Given the description of an element on the screen output the (x, y) to click on. 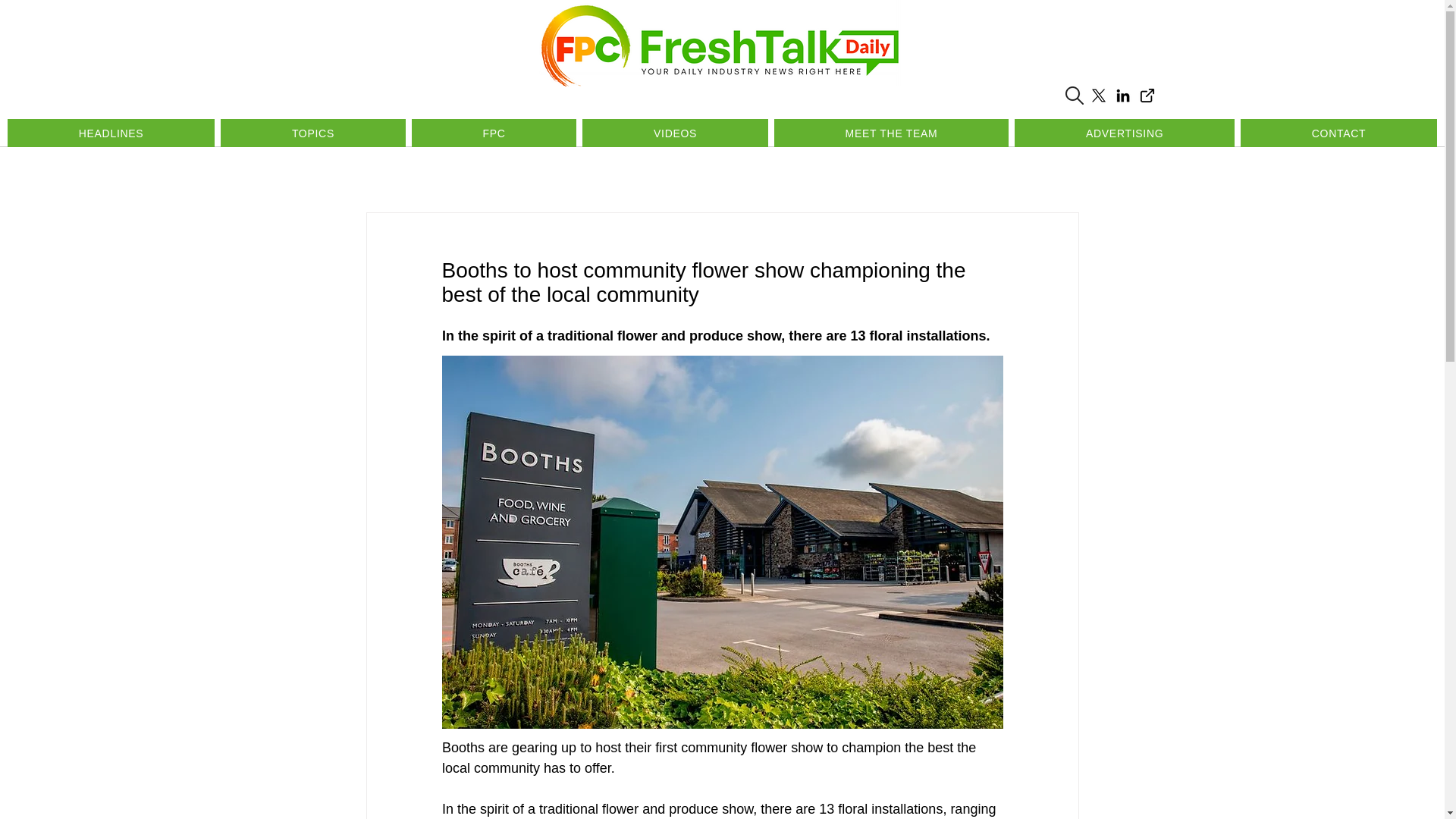
FPC (494, 132)
VIDEOS (675, 132)
MEET THE TEAM (891, 132)
ADVERTISING (1124, 132)
HEADLINES (110, 132)
CONTACT (1338, 132)
